Given the description of an element on the screen output the (x, y) to click on. 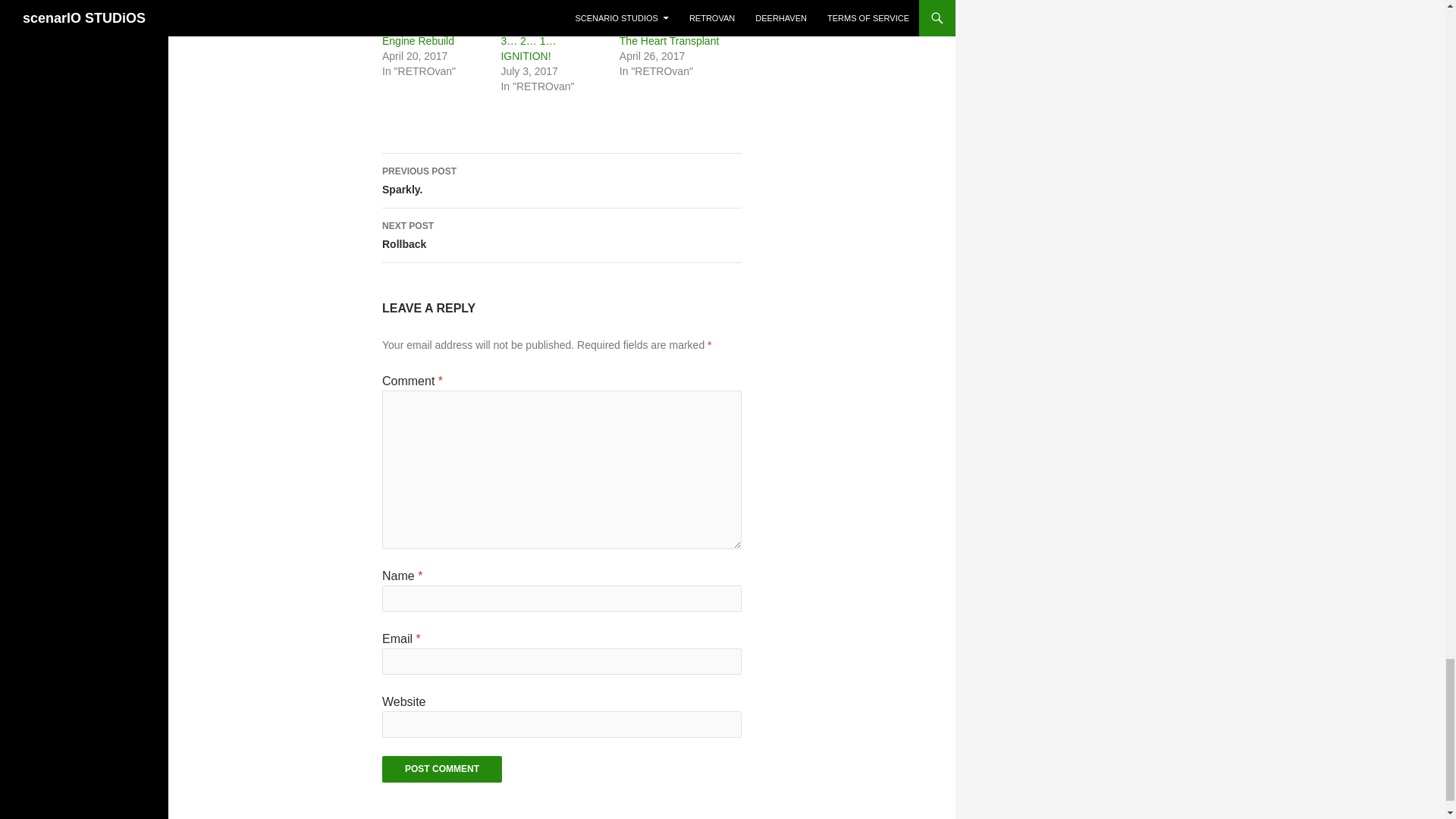
The Heart Transplant (669, 40)
Post Comment (441, 768)
Engine Rebuild (417, 40)
